Given the description of an element on the screen output the (x, y) to click on. 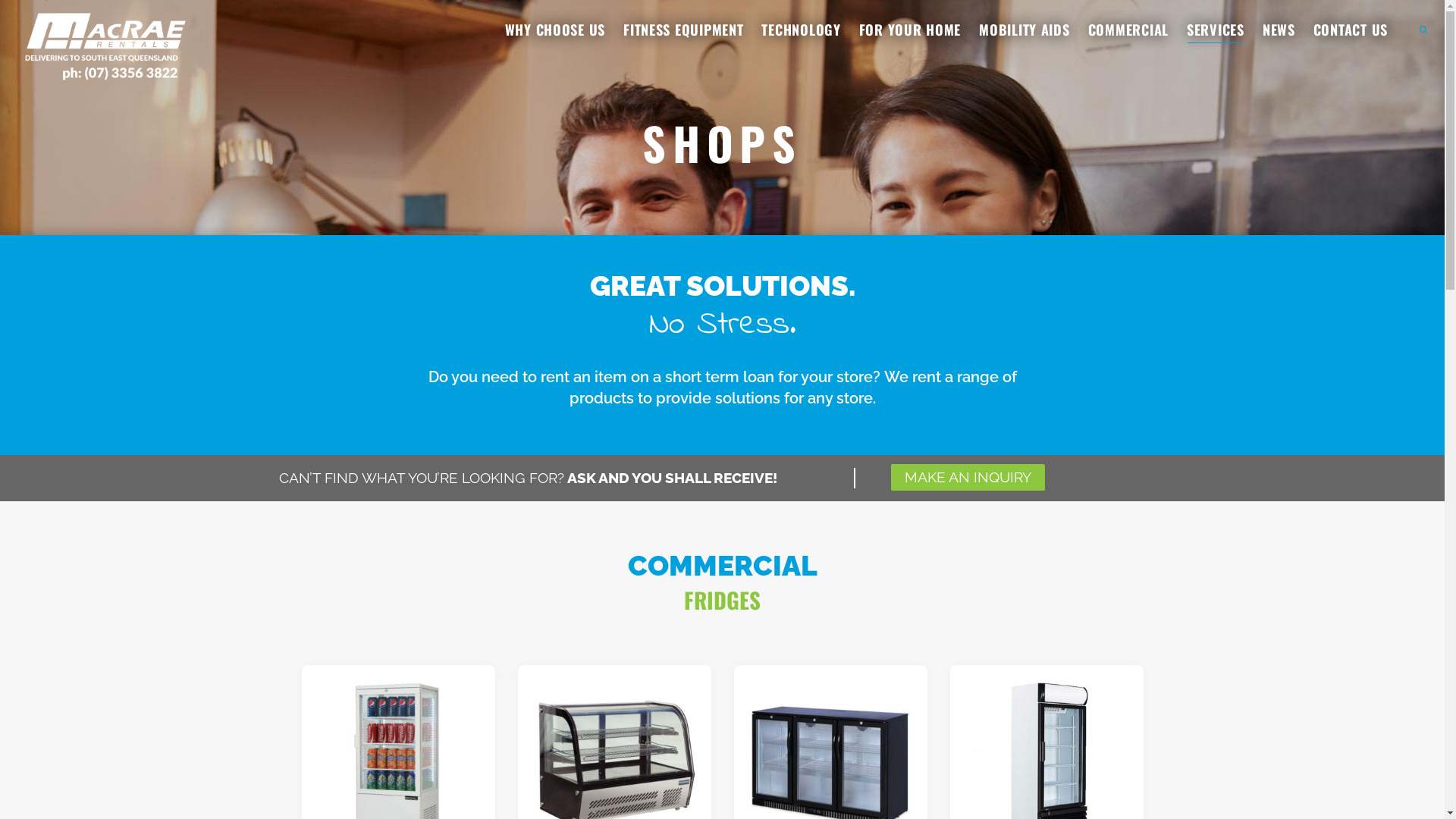
TECHNOLOGY Element type: text (800, 30)
CONTACT US Element type: text (1350, 30)
MAKE AN INQUIRY Element type: text (967, 477)
NEWS Element type: text (1278, 30)
WHY CHOOSE US Element type: text (555, 30)
FITNESS EQUIPMENT Element type: text (683, 30)
MOBILITY AIDS Element type: text (1024, 30)
FOR YOUR HOME Element type: text (909, 30)
COMMERCIAL Element type: text (1128, 30)
SERVICES Element type: text (1215, 30)
